Given the description of an element on the screen output the (x, y) to click on. 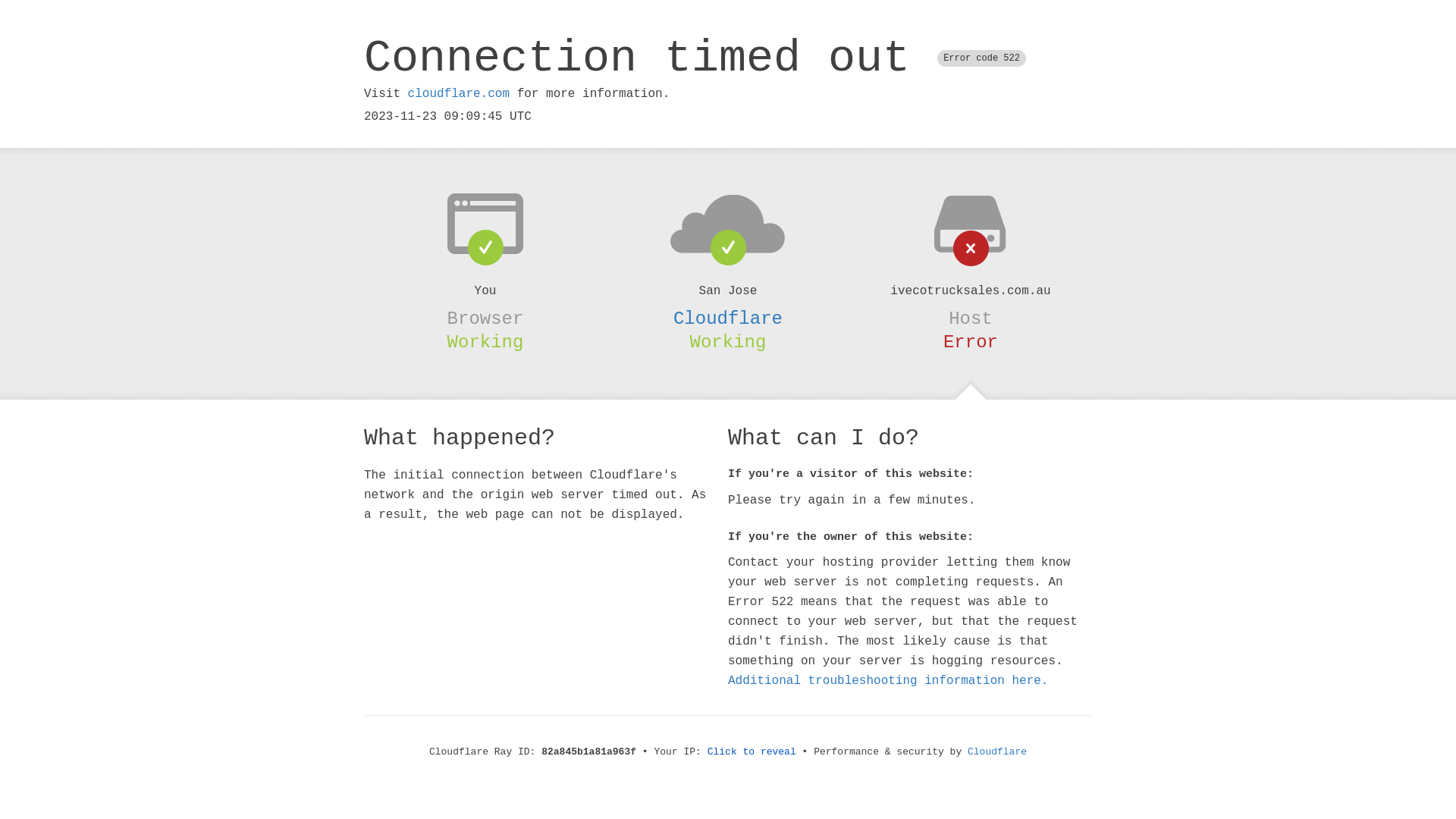
Click to reveal Element type: text (751, 751)
Cloudflare Element type: text (996, 751)
Cloudflare Element type: text (727, 318)
Additional troubleshooting information here. Element type: text (888, 680)
cloudflare.com Element type: text (458, 93)
